Given the description of an element on the screen output the (x, y) to click on. 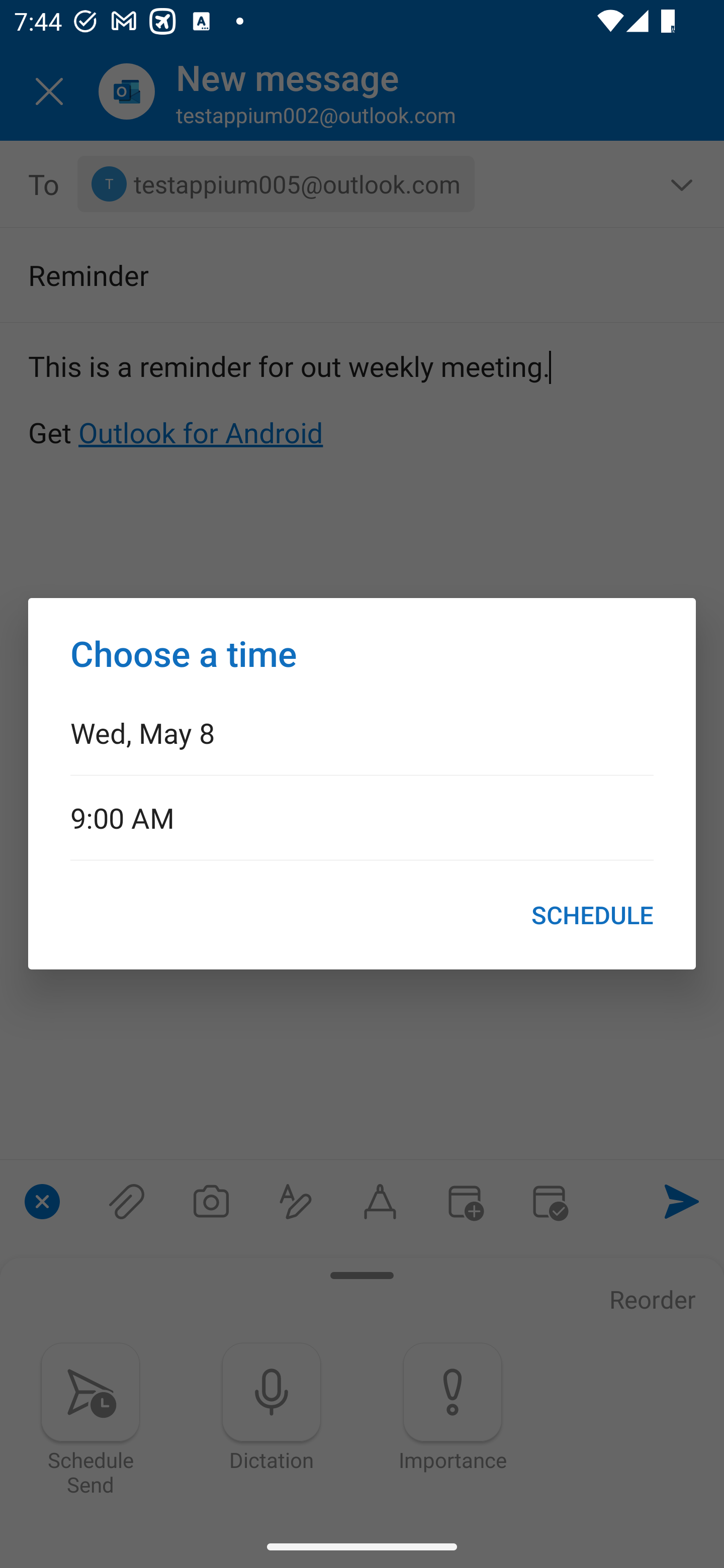
Wed, May 8 Choose date Wed, May 8 (361, 731)
9:00 AM Choose time 9:00 AM (361, 817)
SCHEDULE (592, 914)
